Given the description of an element on the screen output the (x, y) to click on. 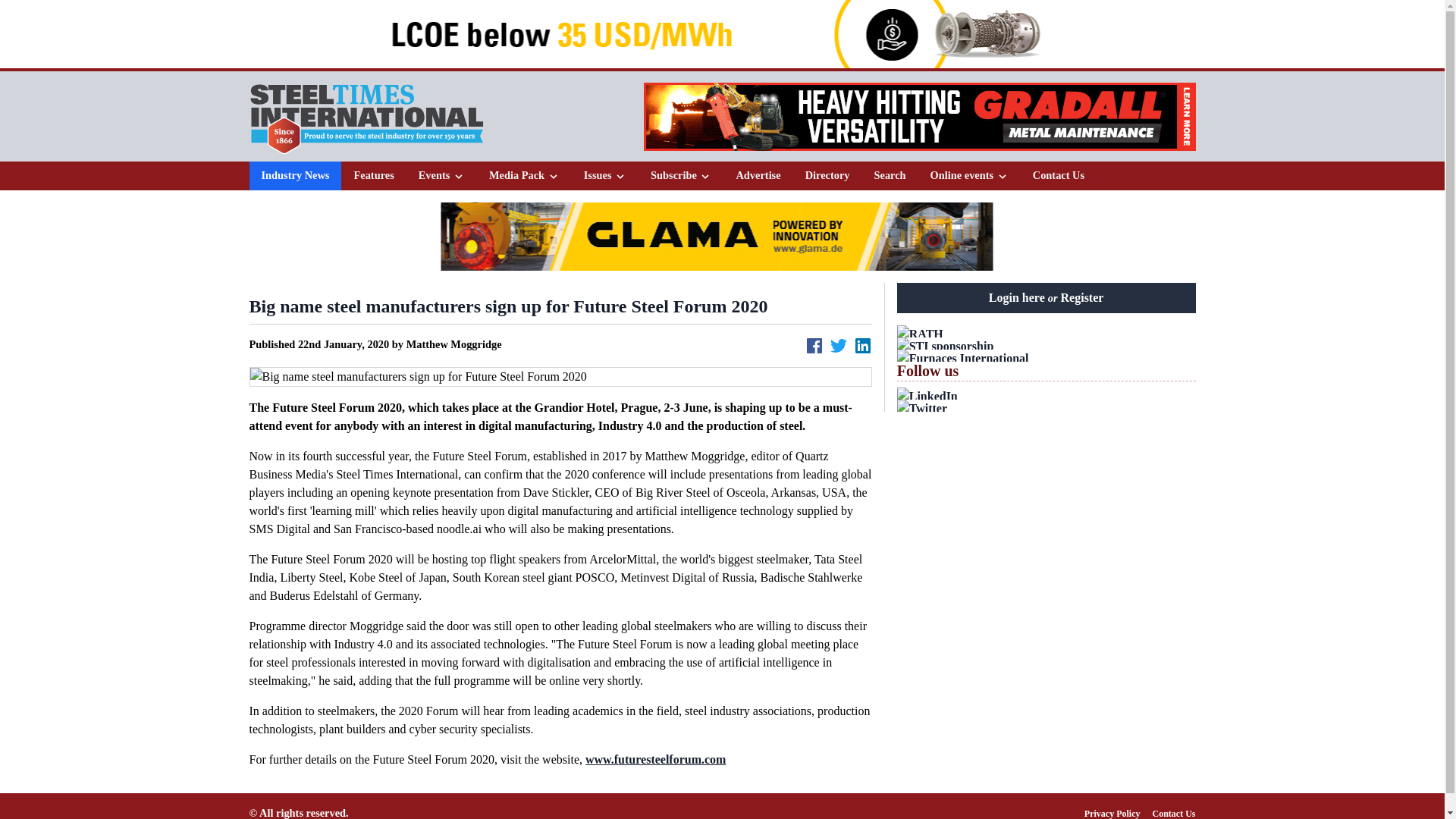
Directory (827, 175)
Solar Turbines (719, 33)
Events (441, 175)
Subscribe (681, 175)
Subscribe (680, 175)
Twitter (1045, 408)
Share on Twitter (838, 345)
LinkedIn (1045, 396)
Media Pack (524, 175)
STI sponsorship (1045, 346)
